Given the description of an element on the screen output the (x, y) to click on. 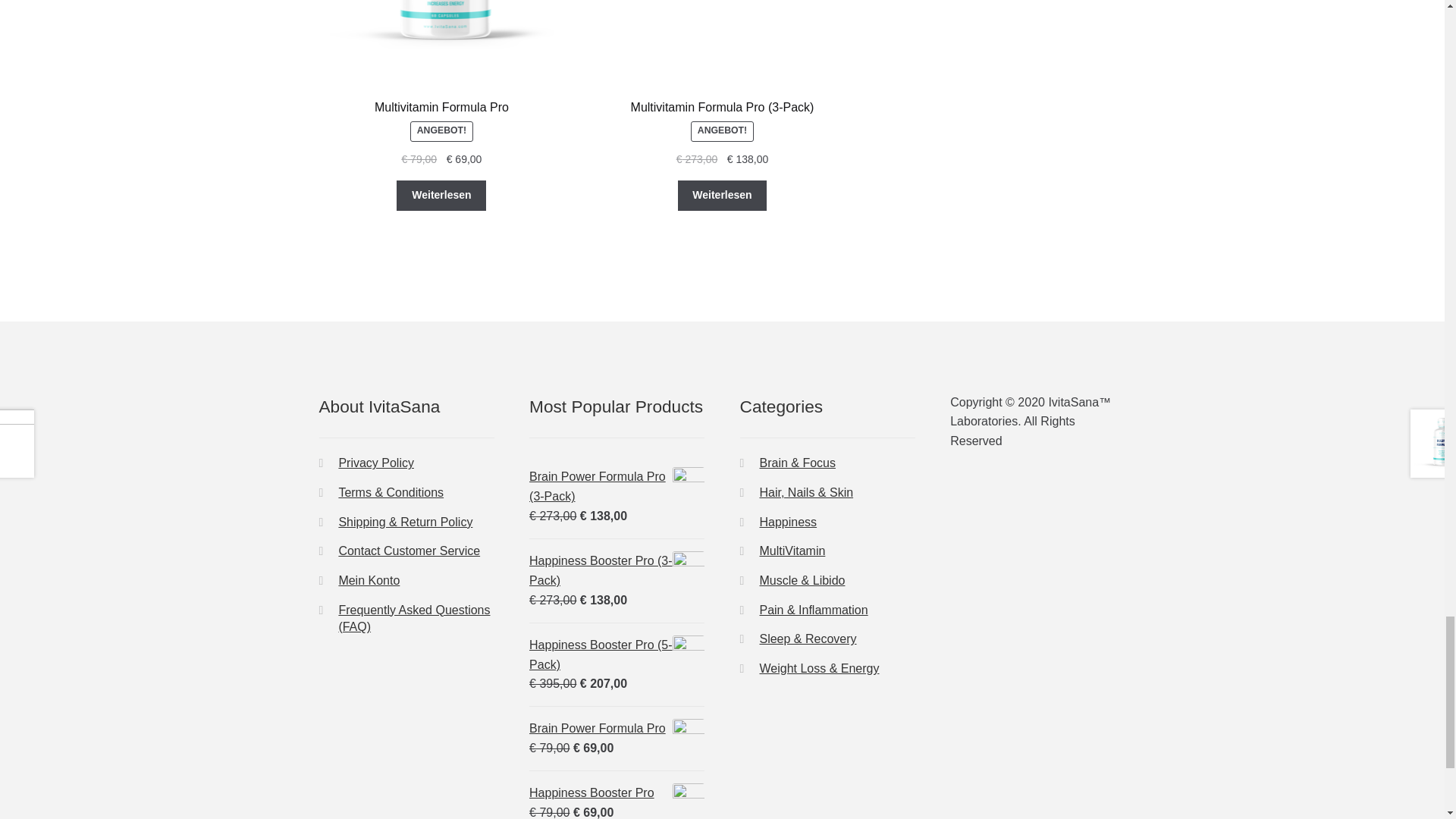
Contact Customer Service (408, 550)
Weiterlesen (722, 195)
Mein Konto (367, 580)
Happiness Booster Pro (616, 792)
Privacy Policy (375, 462)
Weiterlesen (441, 195)
Brain Power Formula Pro (616, 728)
